Given the description of an element on the screen output the (x, y) to click on. 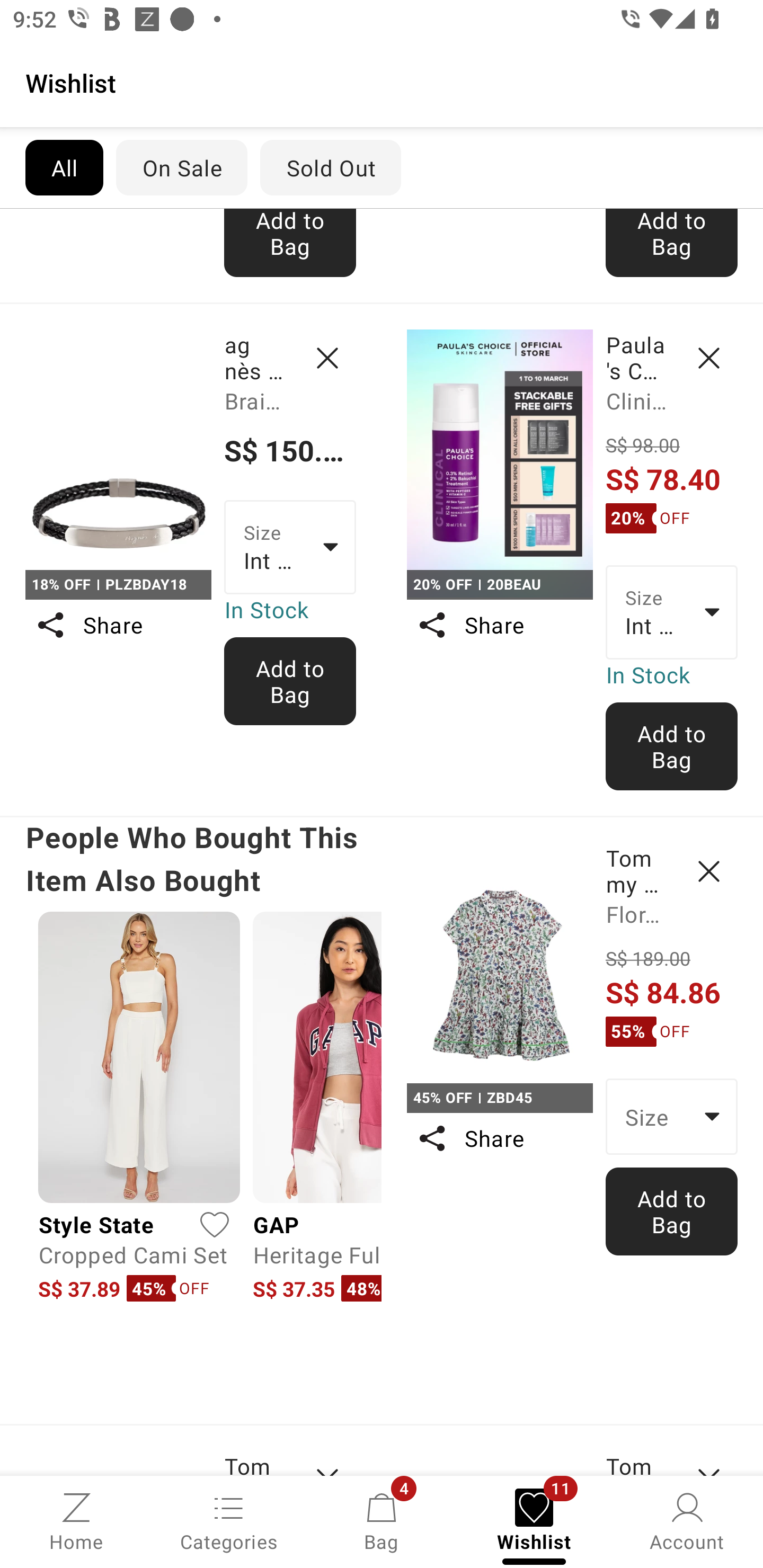
Wishlist (381, 82)
All (64, 167)
On Sale (181, 167)
Sold Out (330, 167)
Add to Bag (290, 242)
Add to Bag (671, 242)
Size Int One Size (290, 547)
Size Int 30 ml (671, 612)
Share (118, 624)
Share (499, 624)
Add to Bag (290, 680)
Add to Bag (671, 746)
Size (671, 1116)
Share (499, 1138)
Add to Bag (671, 1211)
Home (76, 1519)
Categories (228, 1519)
Bag, 4 new notifications Bag (381, 1519)
Account (686, 1519)
